Given the description of an element on the screen output the (x, y) to click on. 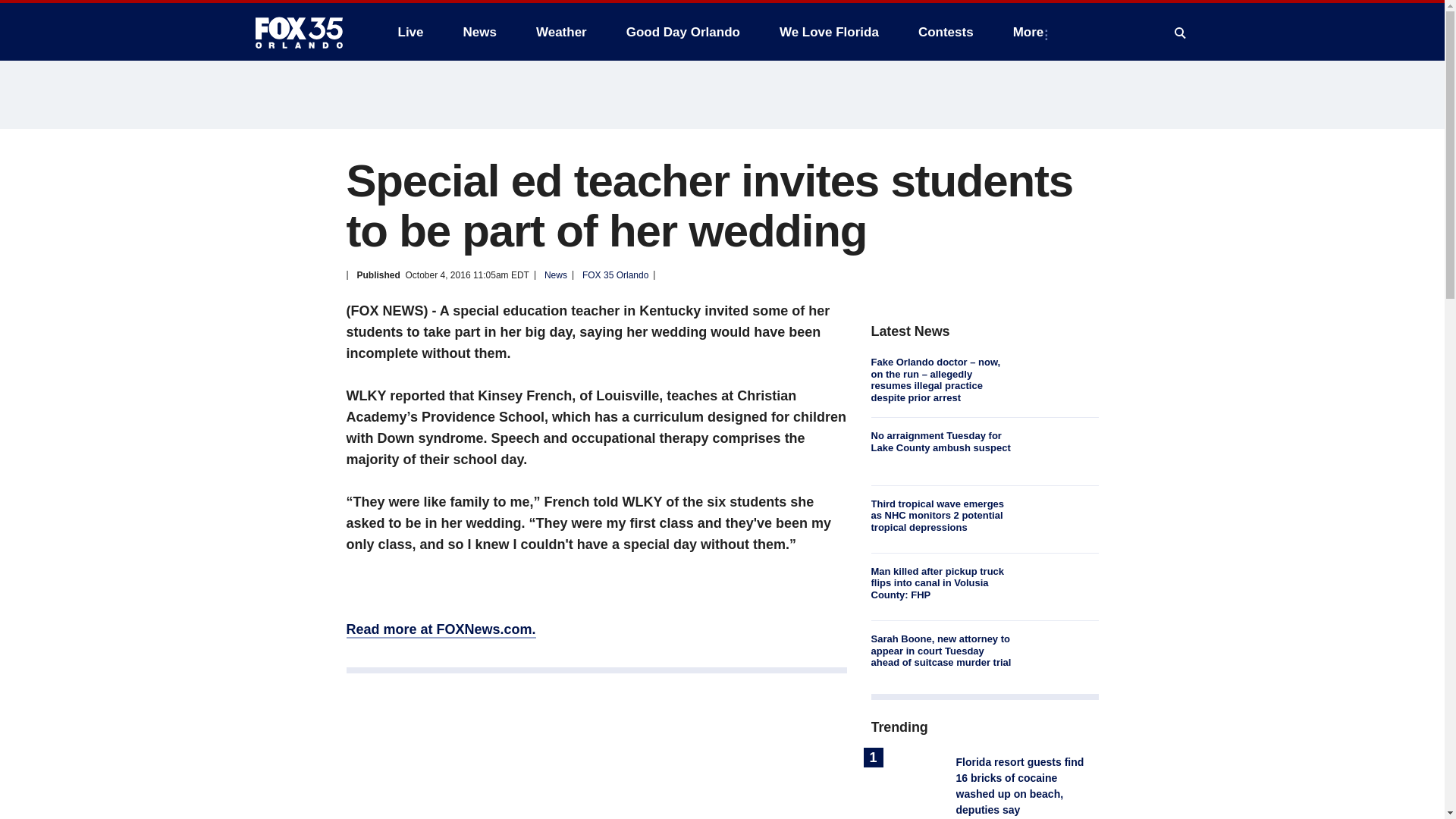
Live (410, 32)
News (479, 32)
Contests (945, 32)
Good Day Orlando (683, 32)
We Love Florida (829, 32)
Weather (561, 32)
More (1031, 32)
